Given the description of an element on the screen output the (x, y) to click on. 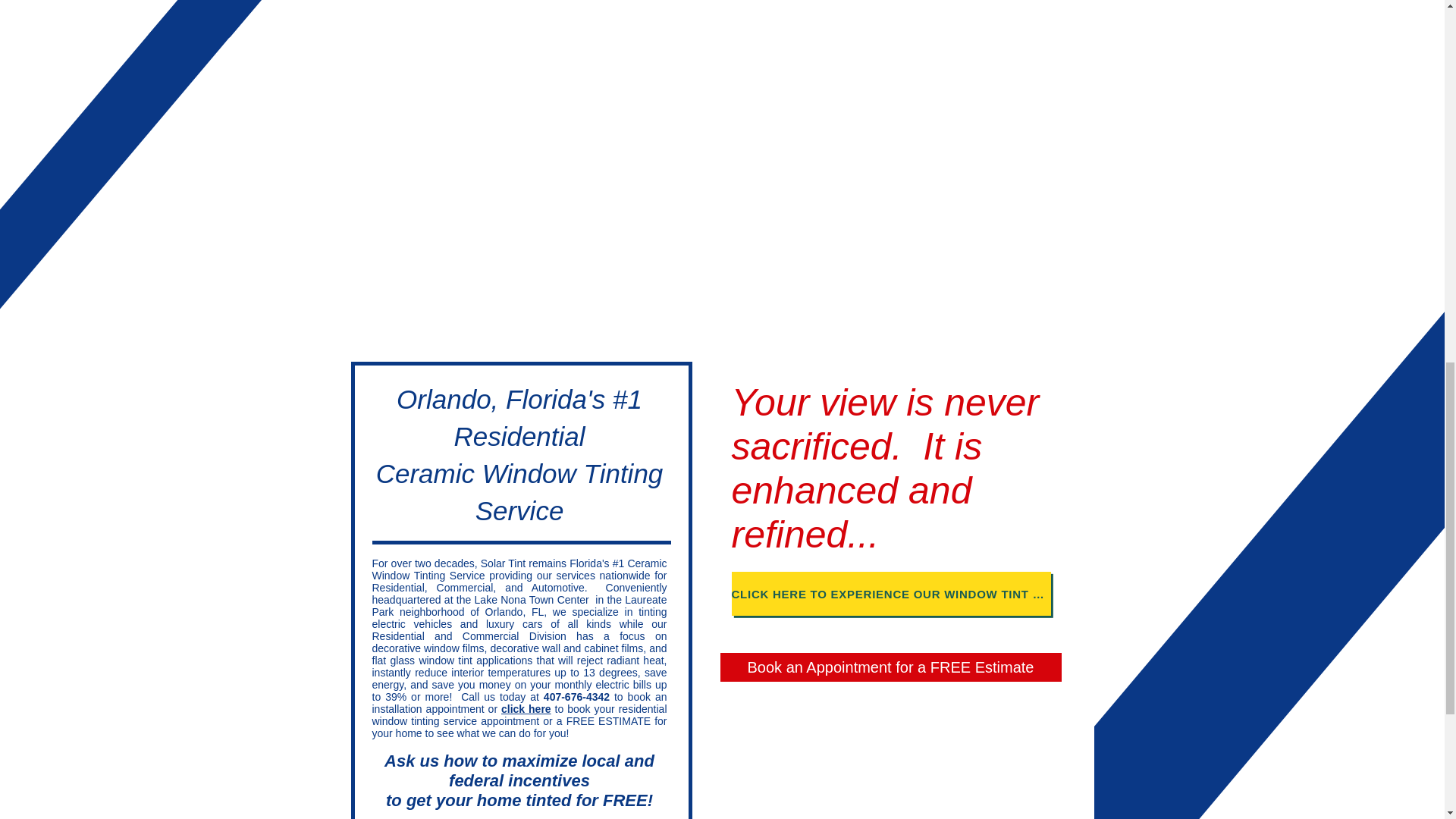
click here (525, 708)
Book an Appointment for a FREE Estimate (890, 666)
CLICK HERE TO EXPERIENCE OUR WINDOW TINT SHADE SIMULATOR (889, 593)
